Given the description of an element on the screen output the (x, y) to click on. 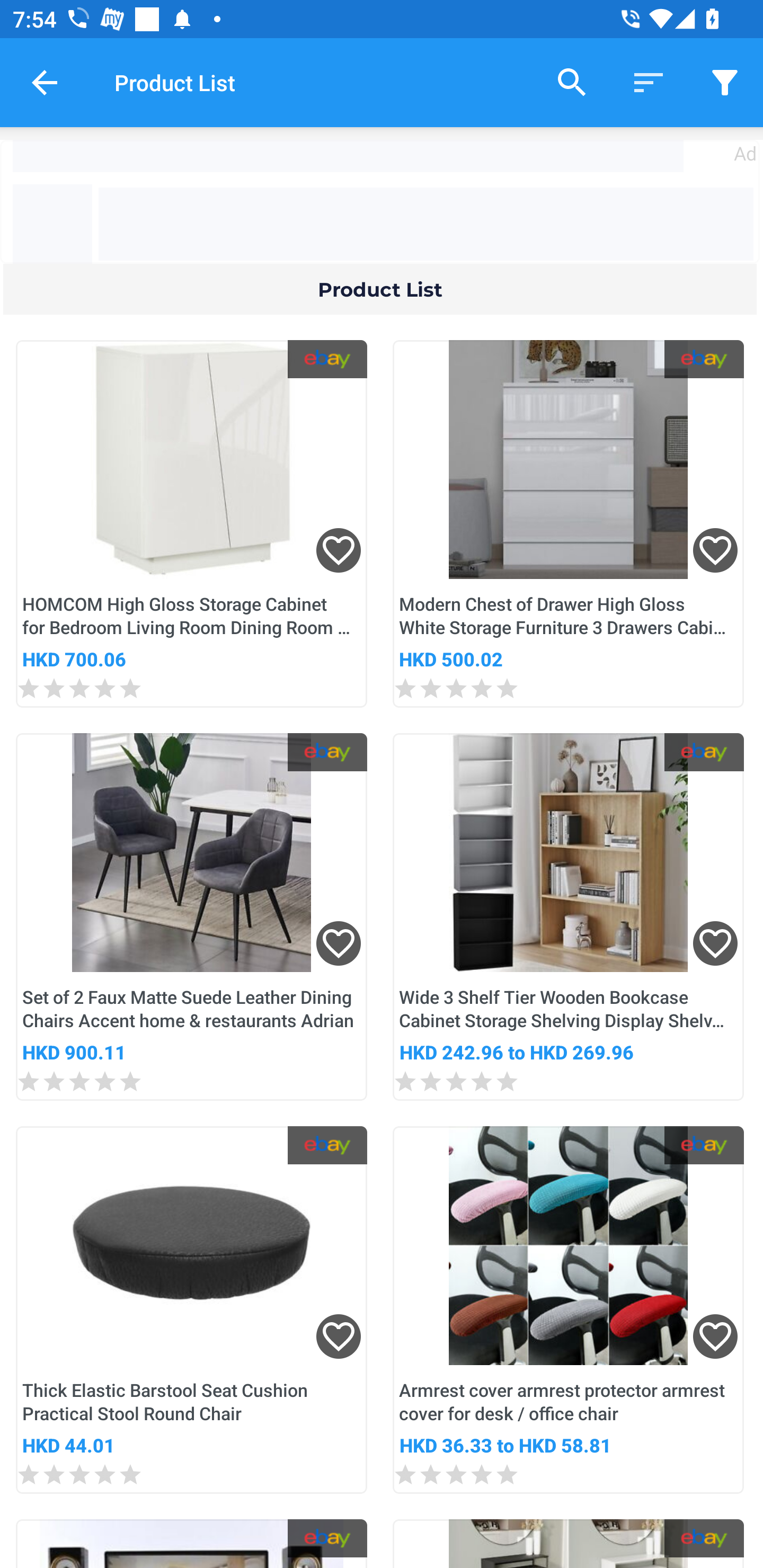
Navigate up (44, 82)
Search (572, 81)
short (648, 81)
short (724, 81)
